Given the description of an element on the screen output the (x, y) to click on. 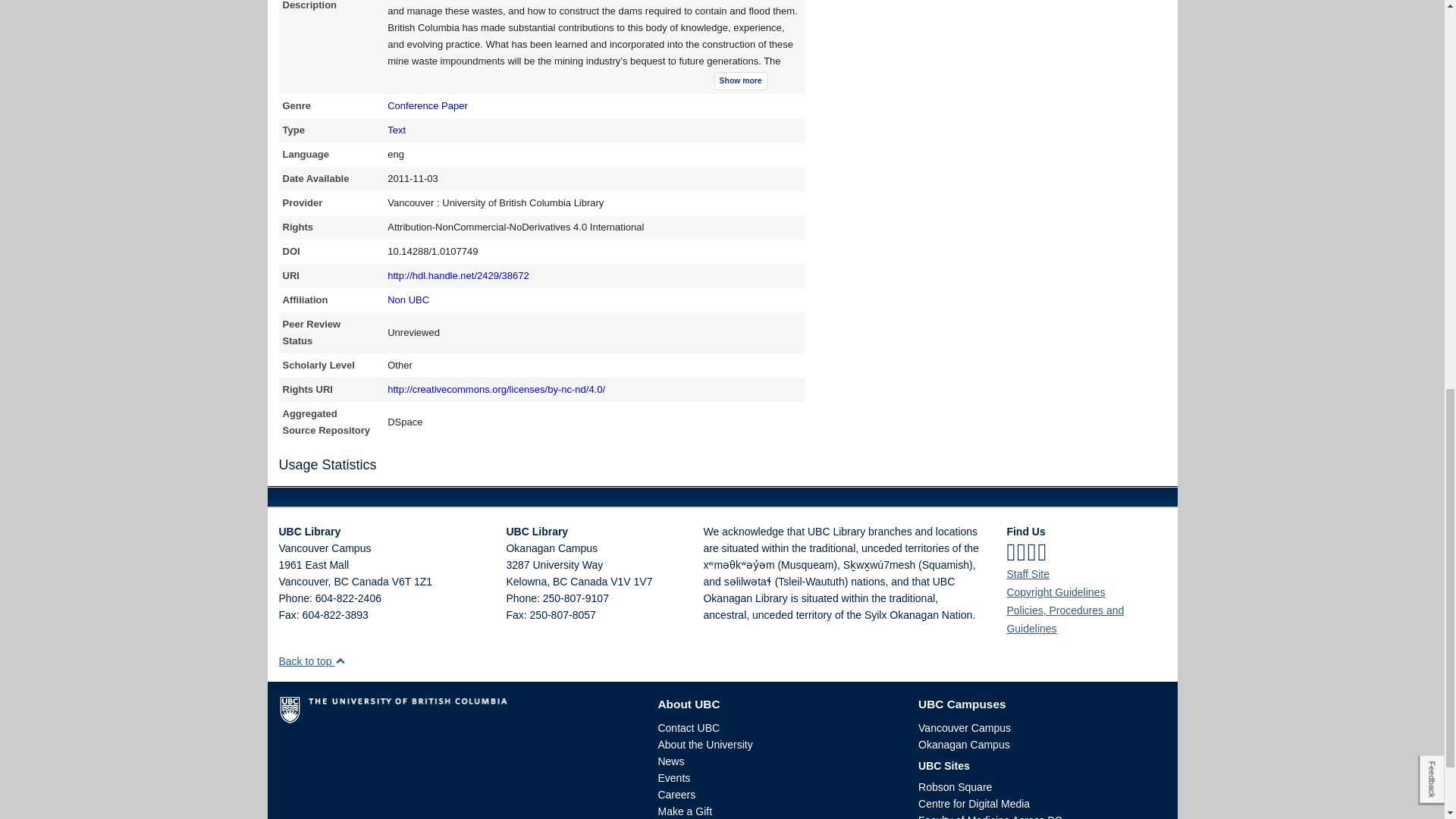
British Columbia (560, 581)
British Columbia (340, 581)
